Given the description of an element on the screen output the (x, y) to click on. 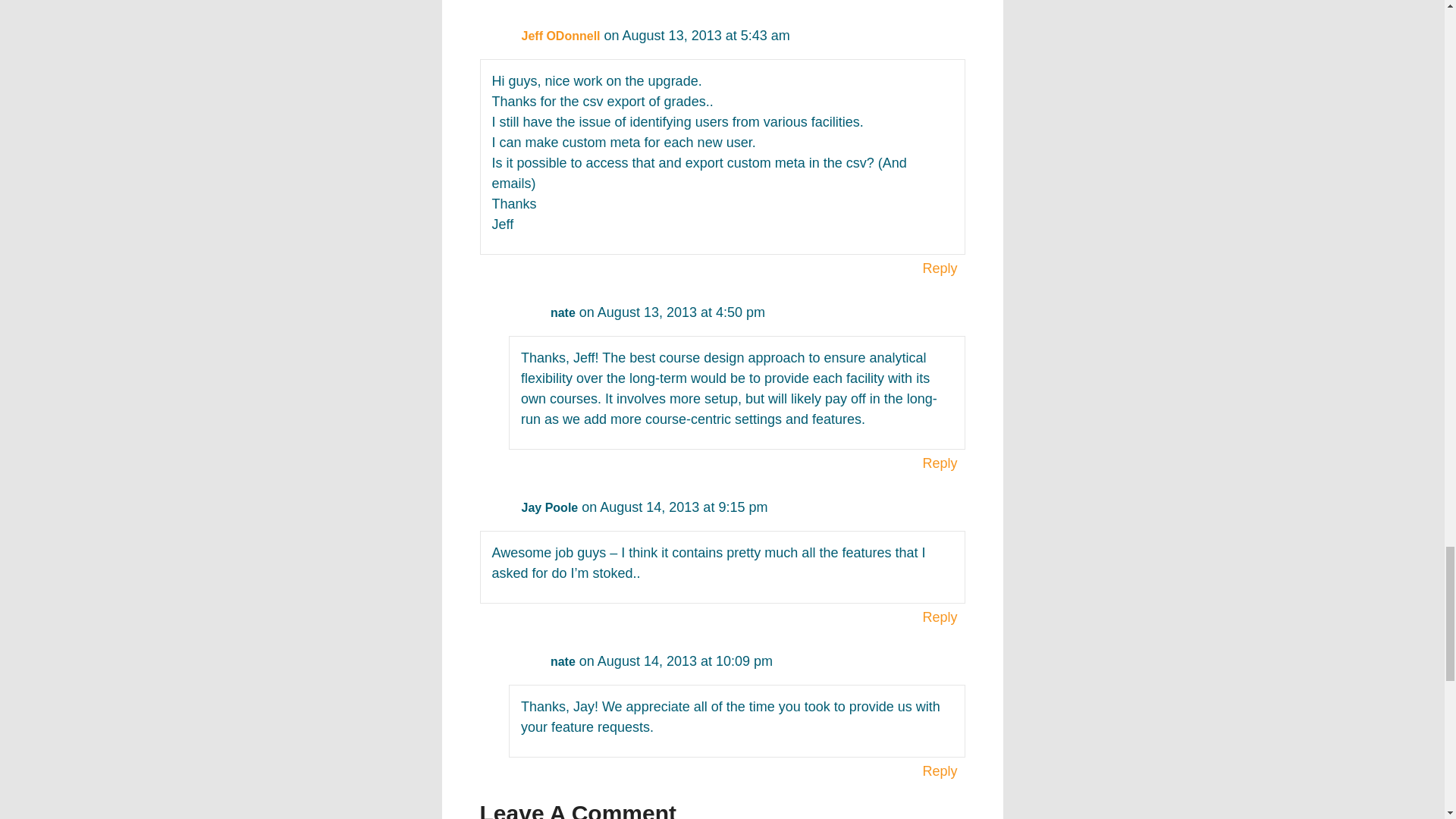
Jeff ODonnell (560, 35)
Reply (939, 771)
Reply (939, 1)
Reply (939, 268)
Reply (939, 617)
Reply (939, 463)
